Given the description of an element on the screen output the (x, y) to click on. 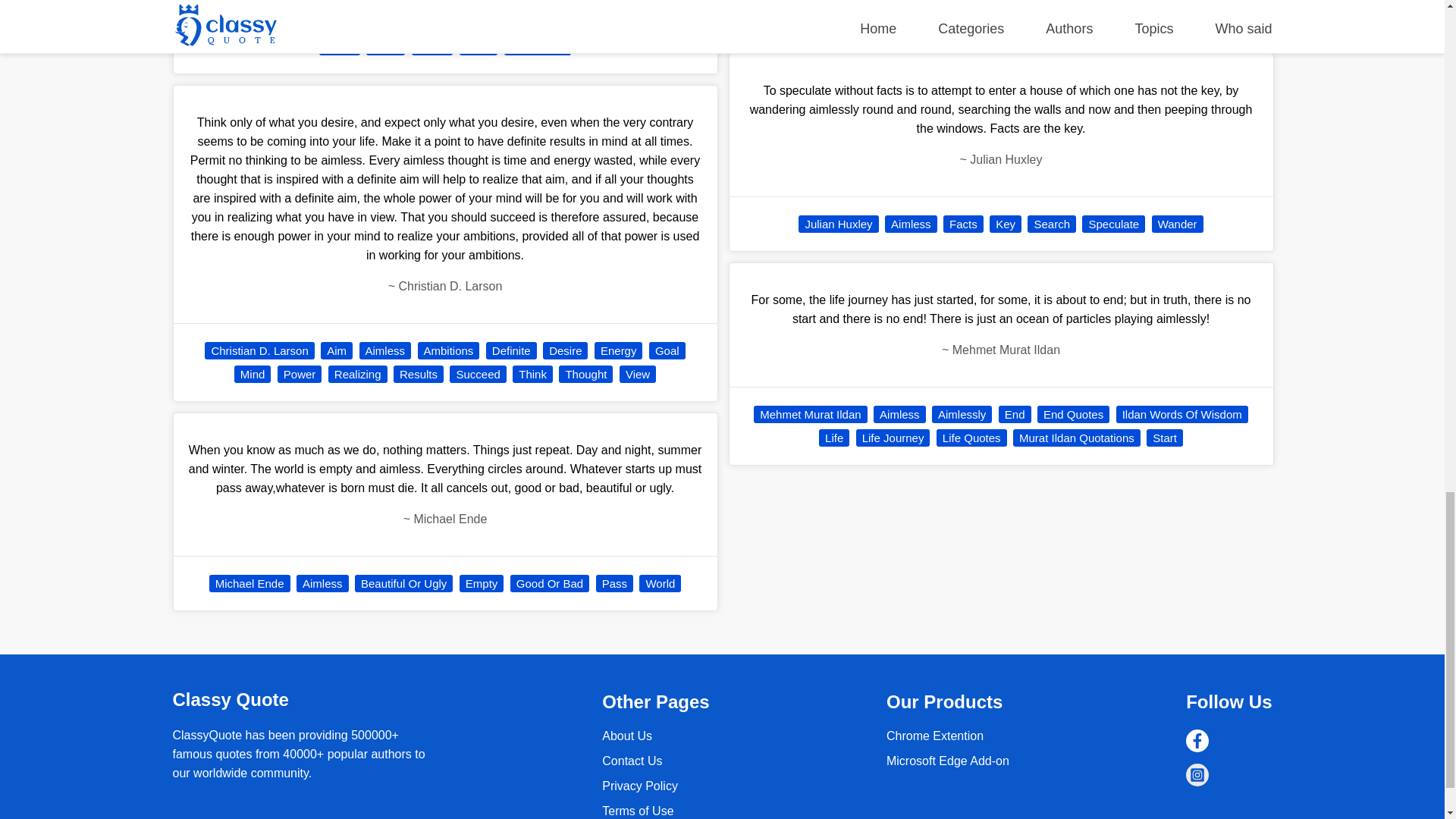
Chrome Extention (947, 760)
Chrome Extention (935, 735)
Facebook (1197, 740)
Instagram coming soon (1197, 774)
